Given the description of an element on the screen output the (x, y) to click on. 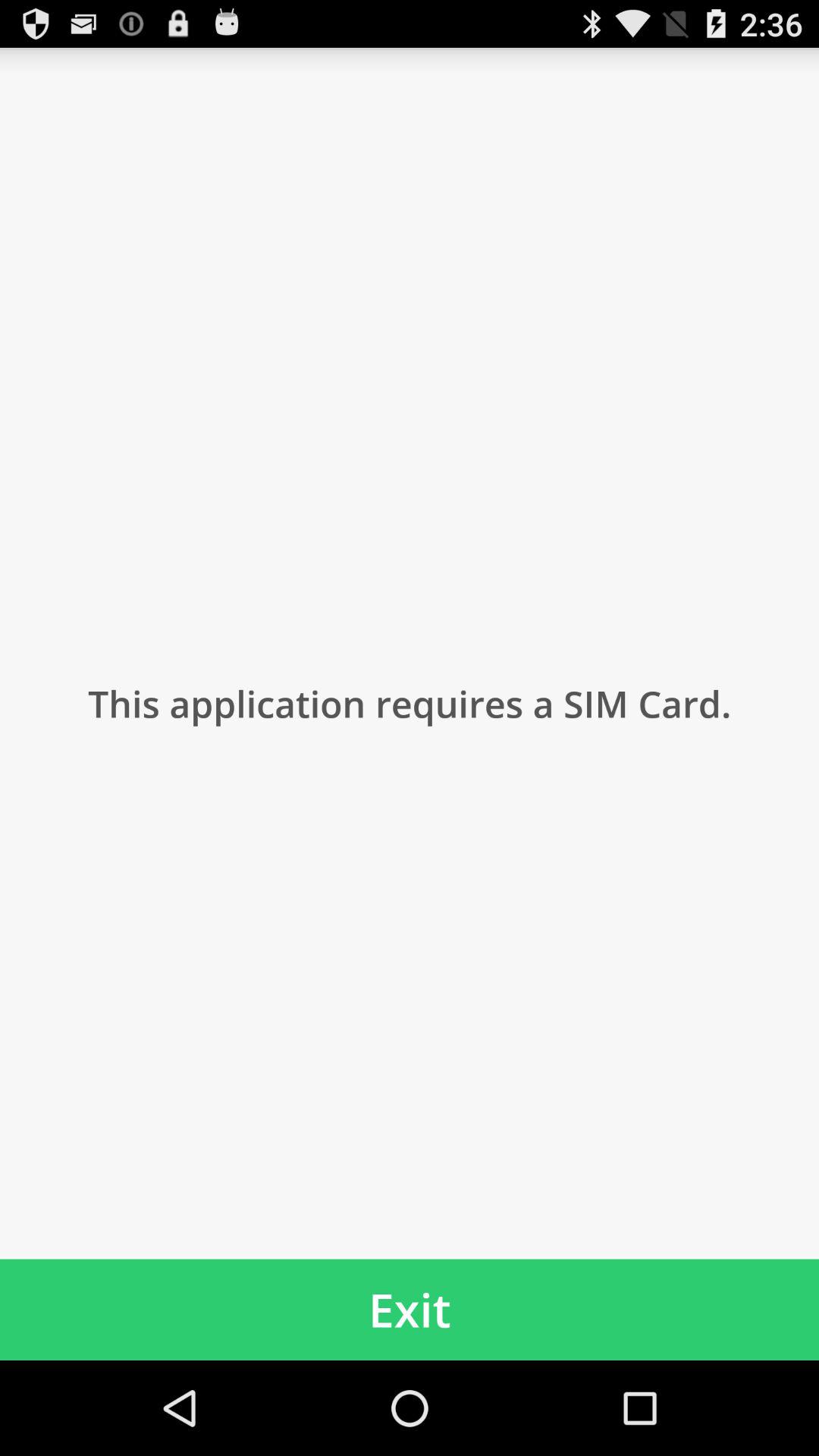
click item below the this application requires (409, 1309)
